Given the description of an element on the screen output the (x, y) to click on. 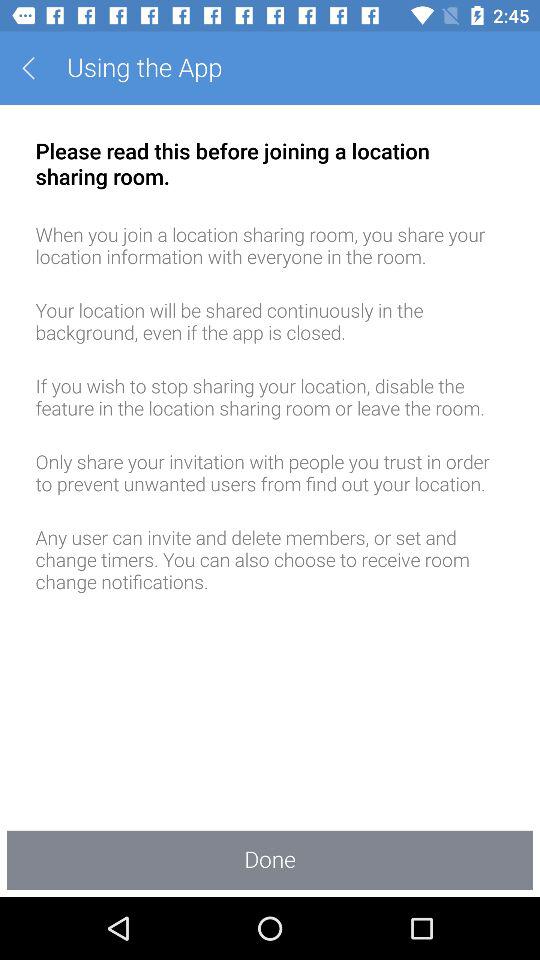
click the item to the left of the using the app app (35, 67)
